Given the description of an element on the screen output the (x, y) to click on. 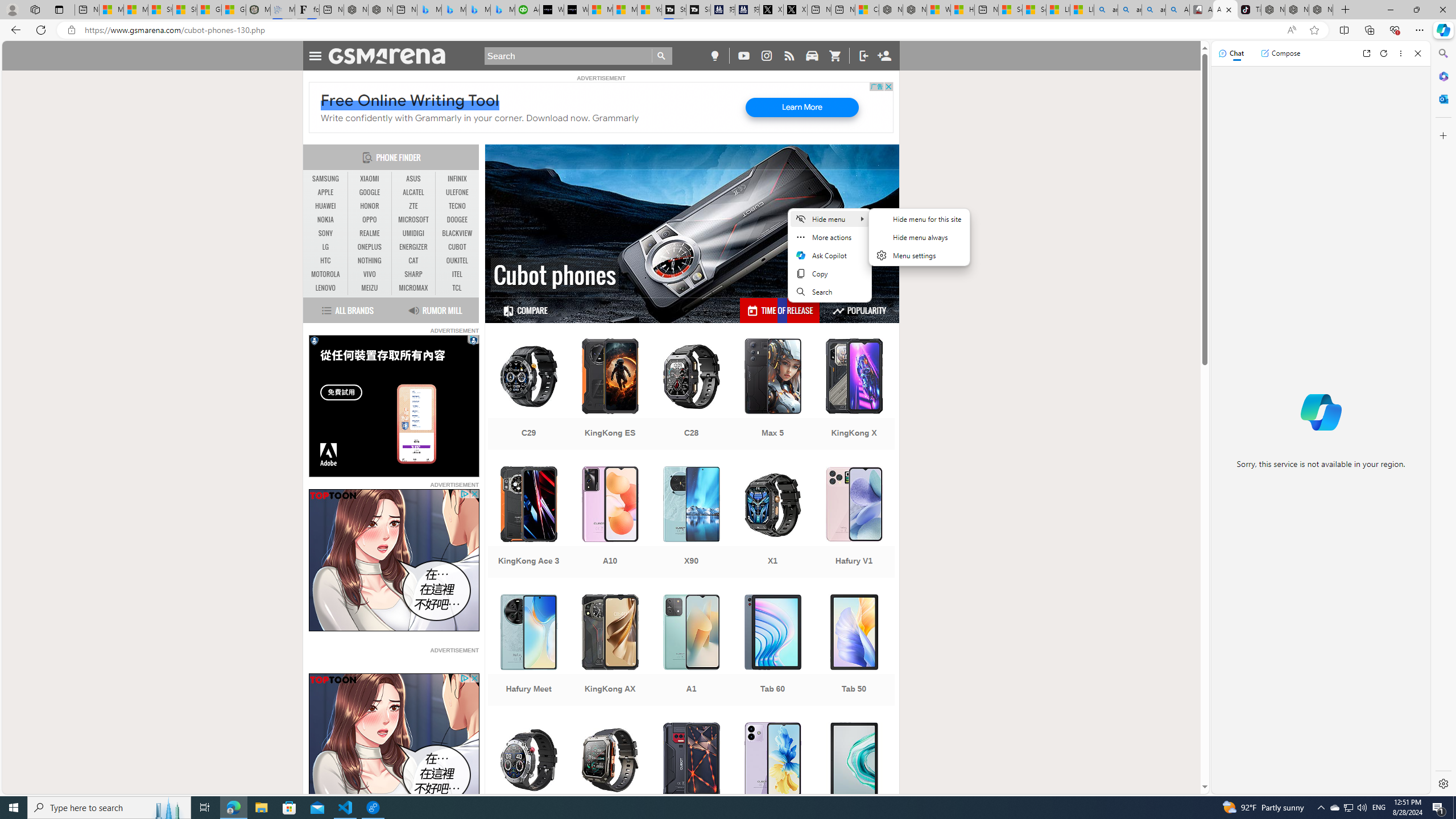
TECNO (457, 205)
Nordace - Best Sellers (1273, 9)
Nordace - Siena Pro 15 Essential Set (1321, 9)
ENERGIZER (413, 246)
ASUS (413, 178)
C28 (691, 395)
TikTok (1248, 9)
Microsoft Bing Travel - Stays in Bangkok, Bangkok, Thailand (453, 9)
ITEL (457, 273)
AutomationID: close_button_svg (474, 678)
